Given the description of an element on the screen output the (x, y) to click on. 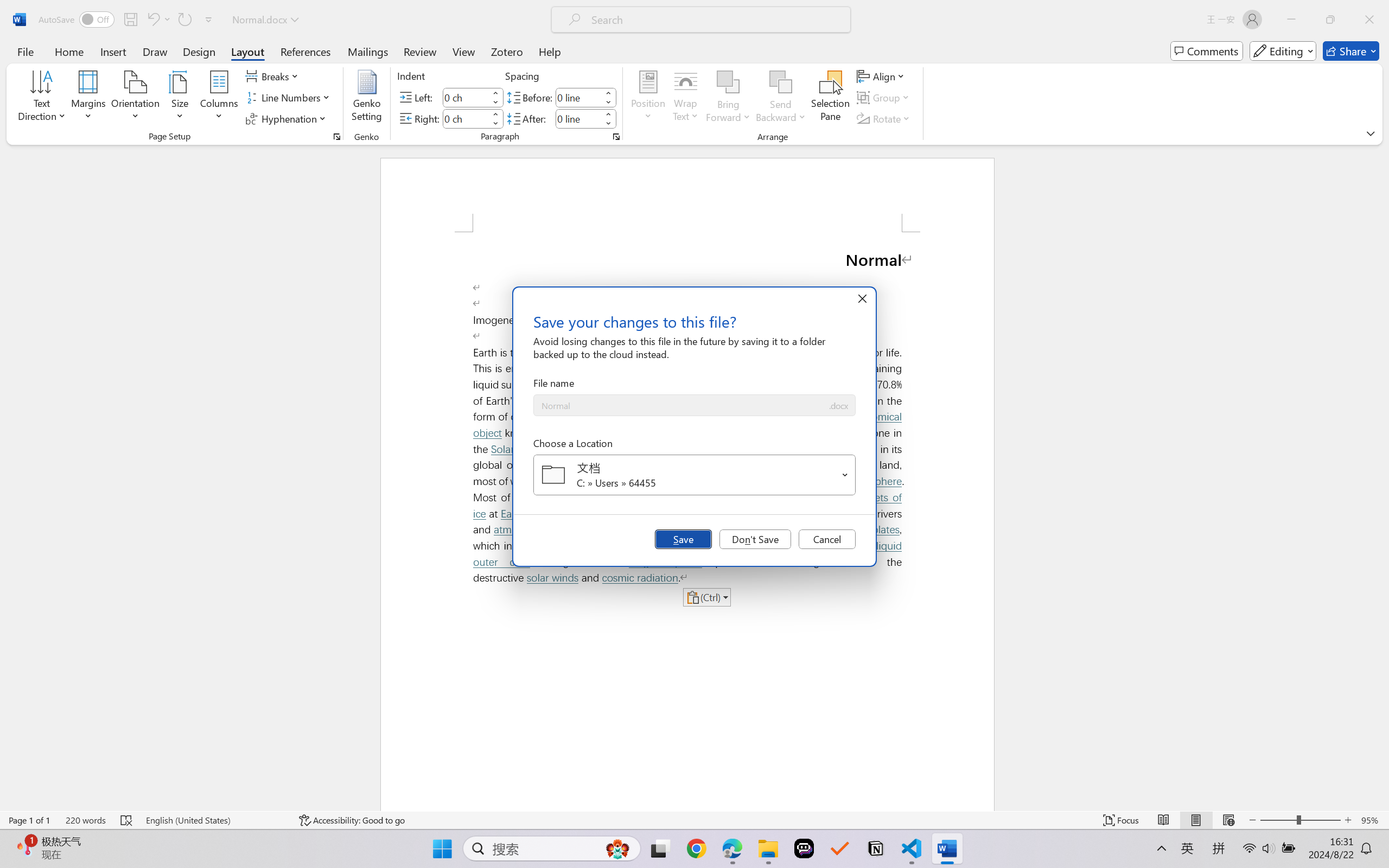
Page Setup... (336, 136)
Genko Setting... (367, 97)
Line Numbers (289, 97)
Undo Paste Destination Formatting (152, 19)
Notion (875, 848)
Orientation (135, 97)
